Given the description of an element on the screen output the (x, y) to click on. 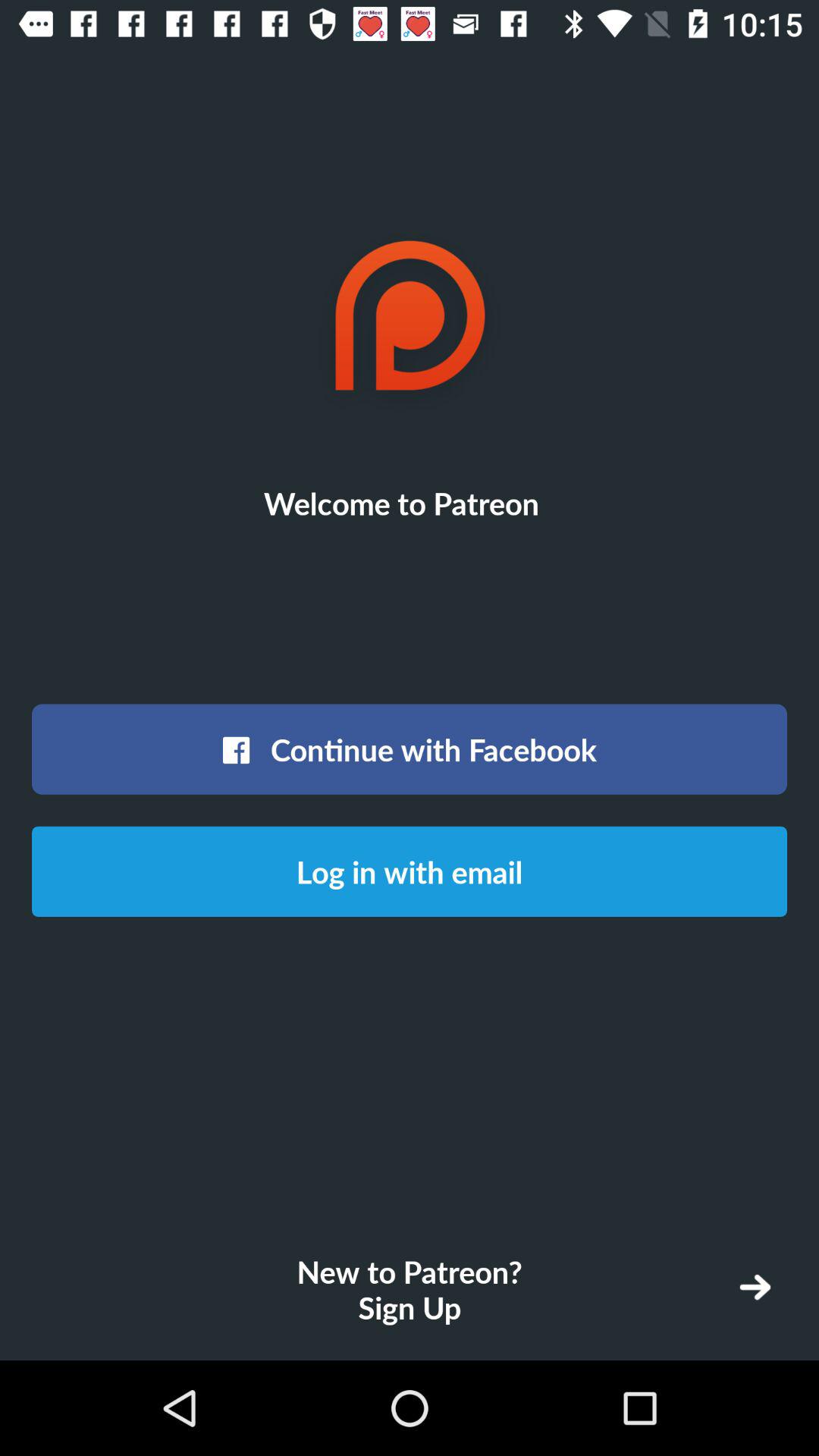
select the item above the new to patreon item (409, 871)
